Given the description of an element on the screen output the (x, y) to click on. 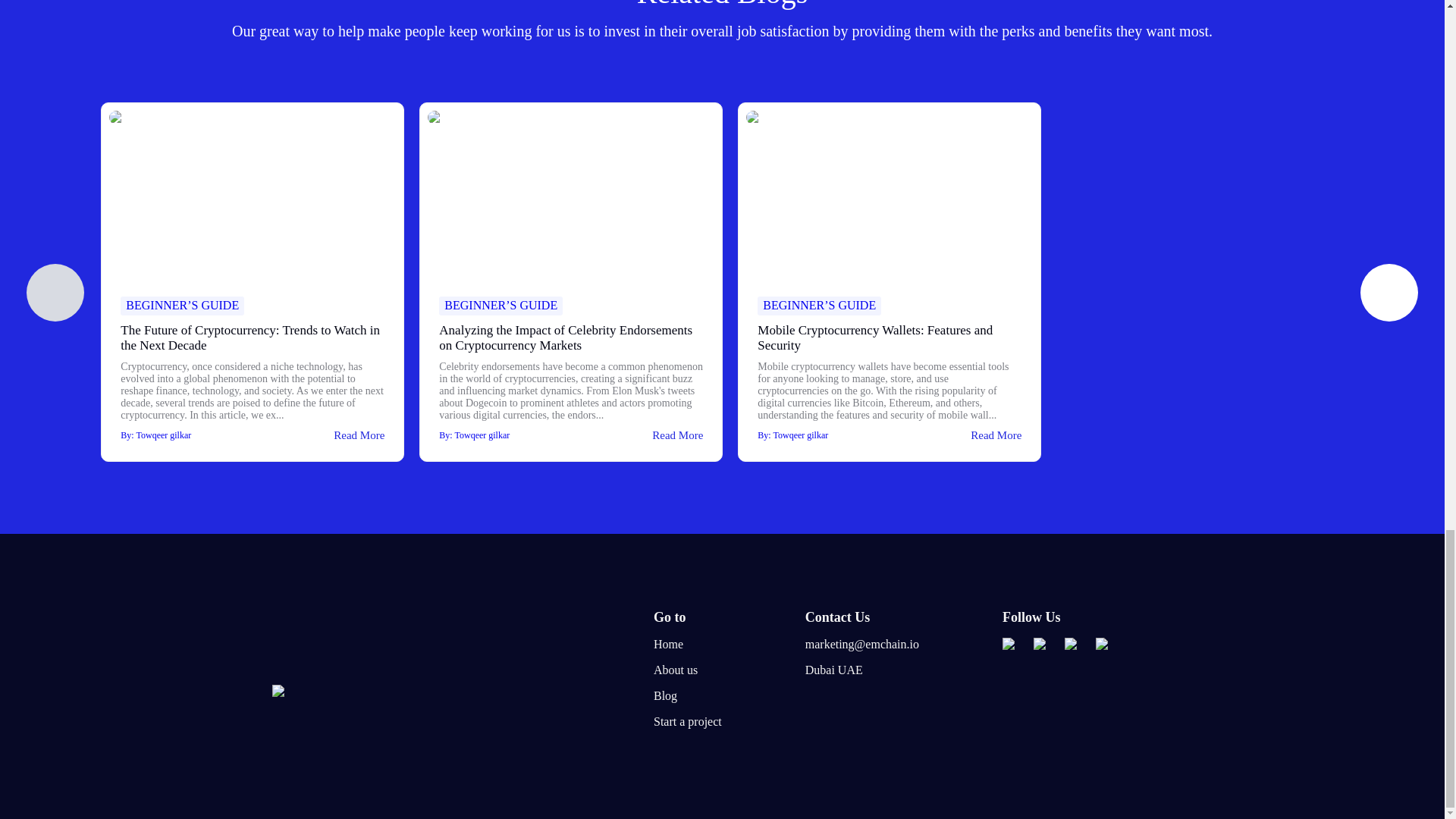
About us (687, 670)
Home (687, 644)
Blog (687, 695)
Start a project (687, 721)
